Given the description of an element on the screen output the (x, y) to click on. 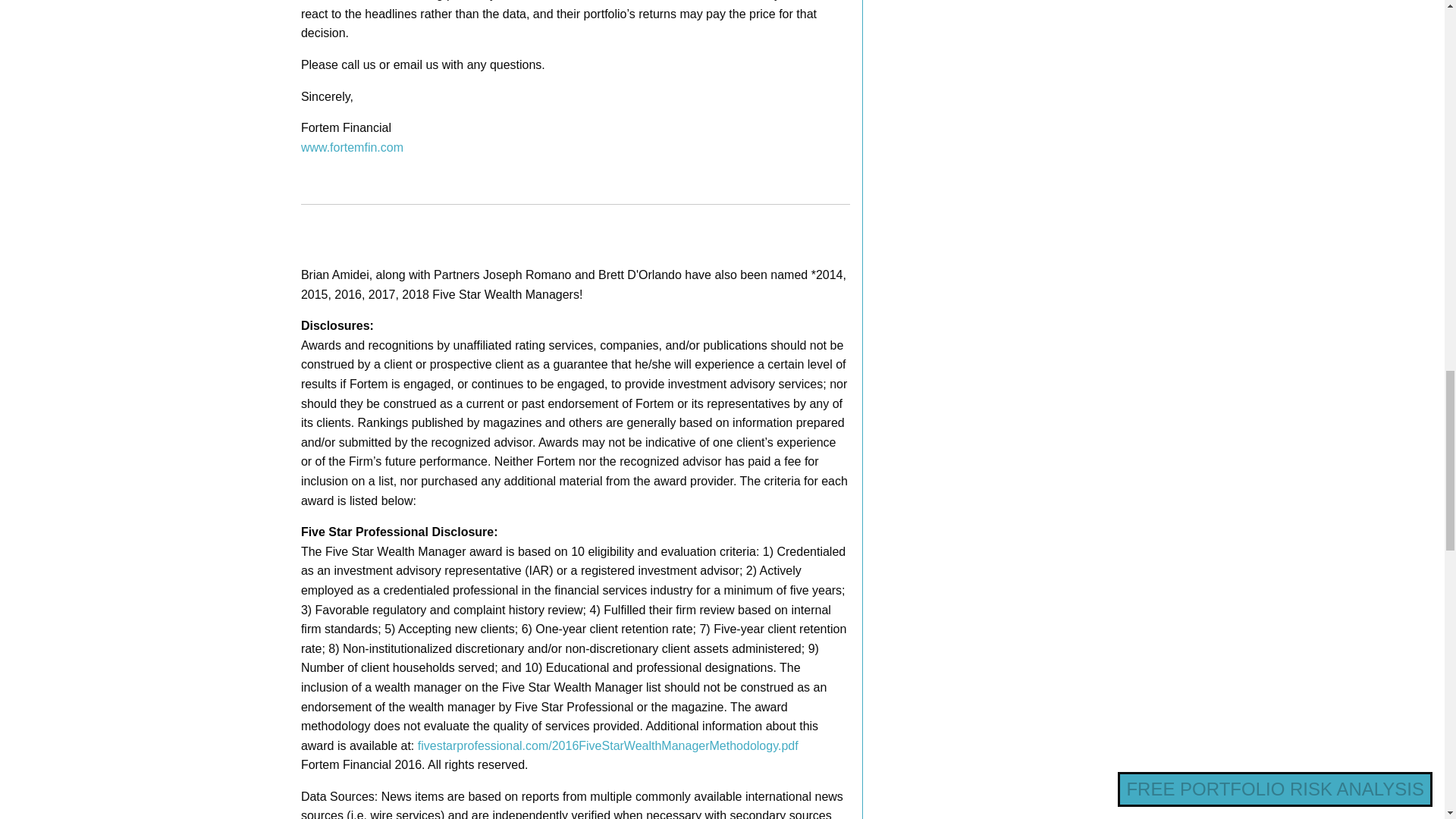
www.fortemfin.com (352, 146)
